Given the description of an element on the screen output the (x, y) to click on. 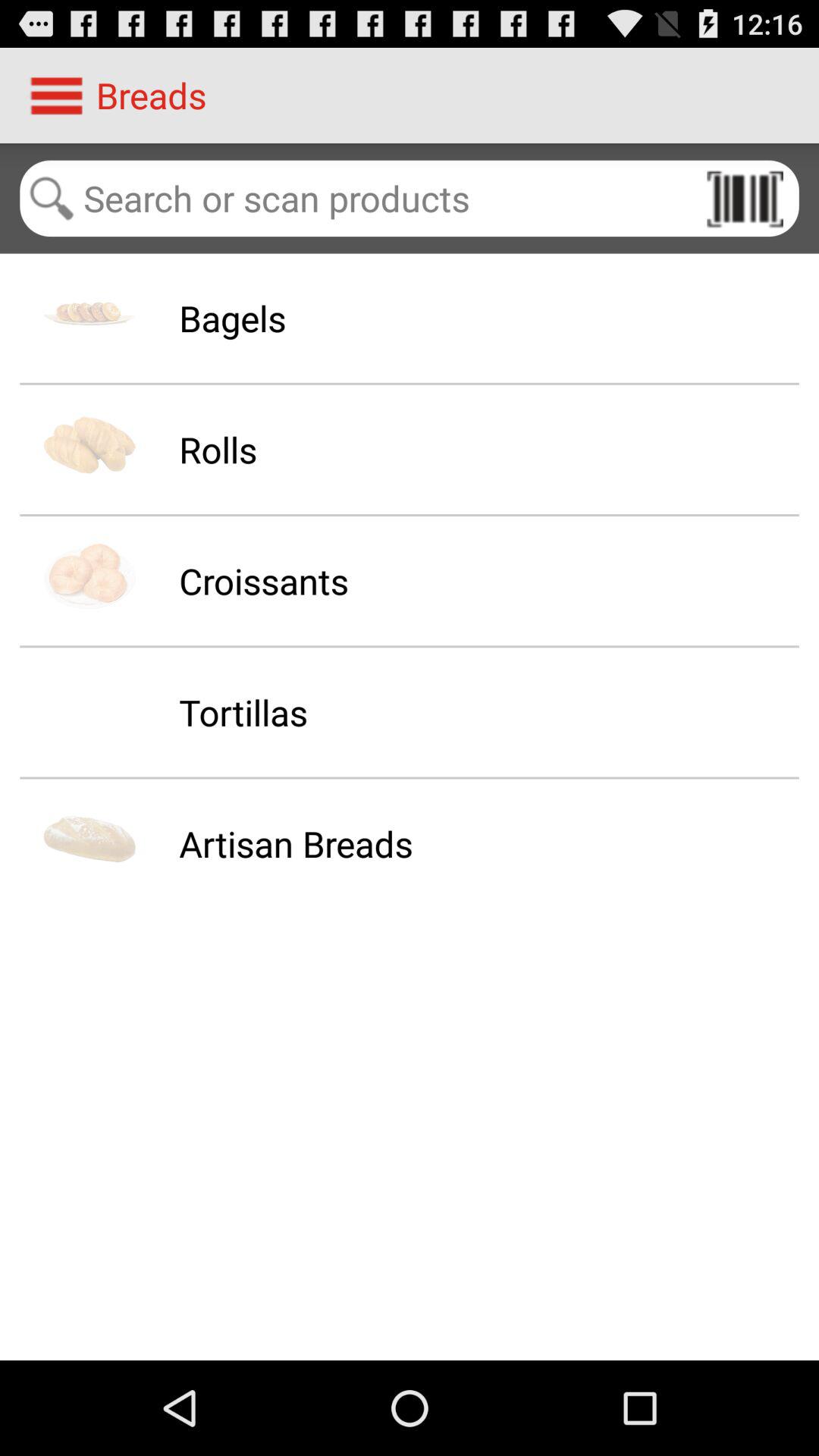
flip until the croissants item (263, 580)
